Given the description of an element on the screen output the (x, y) to click on. 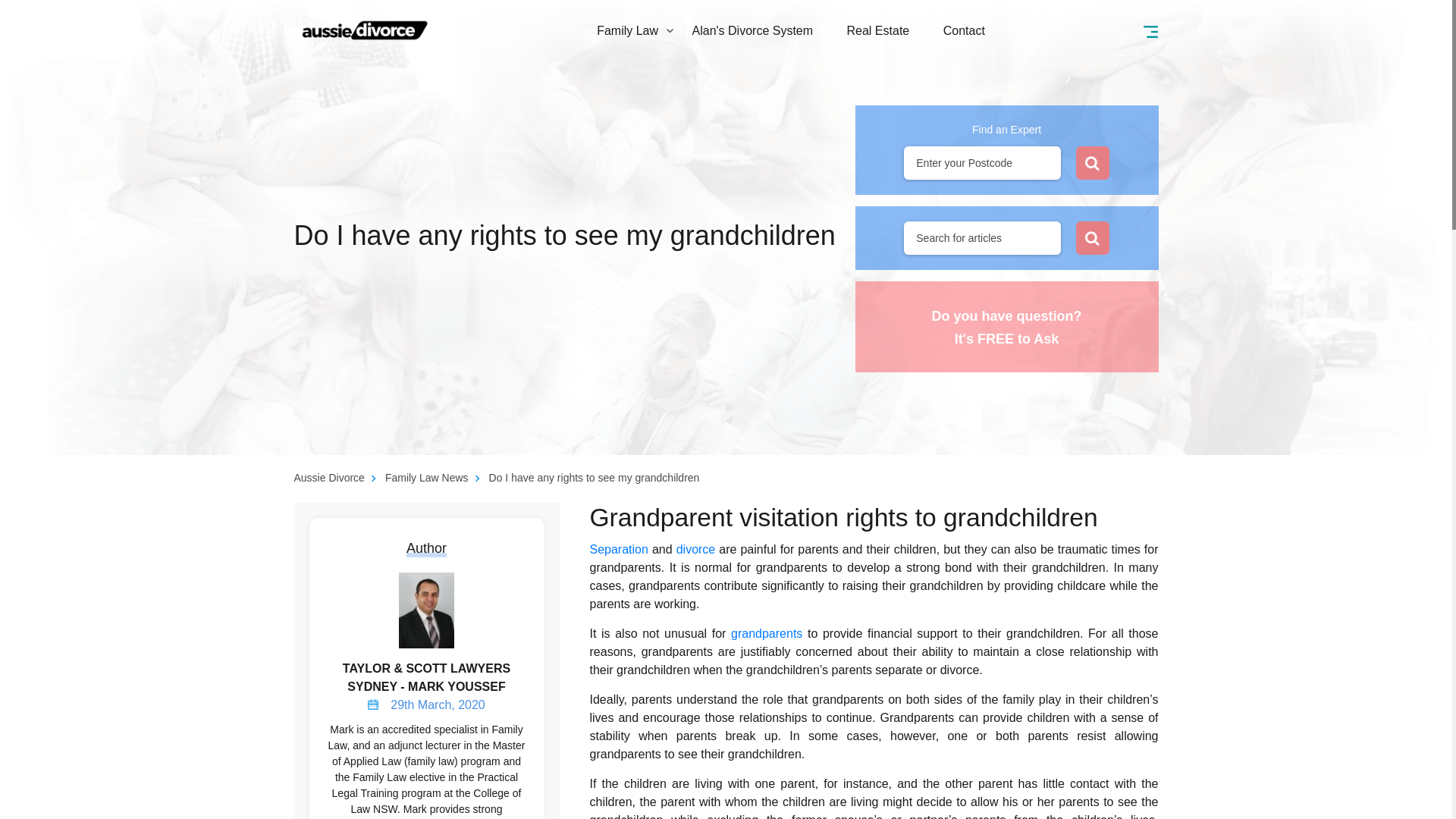
Family Law (627, 30)
Aussie Divorce (366, 29)
Contact (964, 30)
Real Estate (878, 30)
Alan's Divorce System (753, 30)
